Given the description of an element on the screen output the (x, y) to click on. 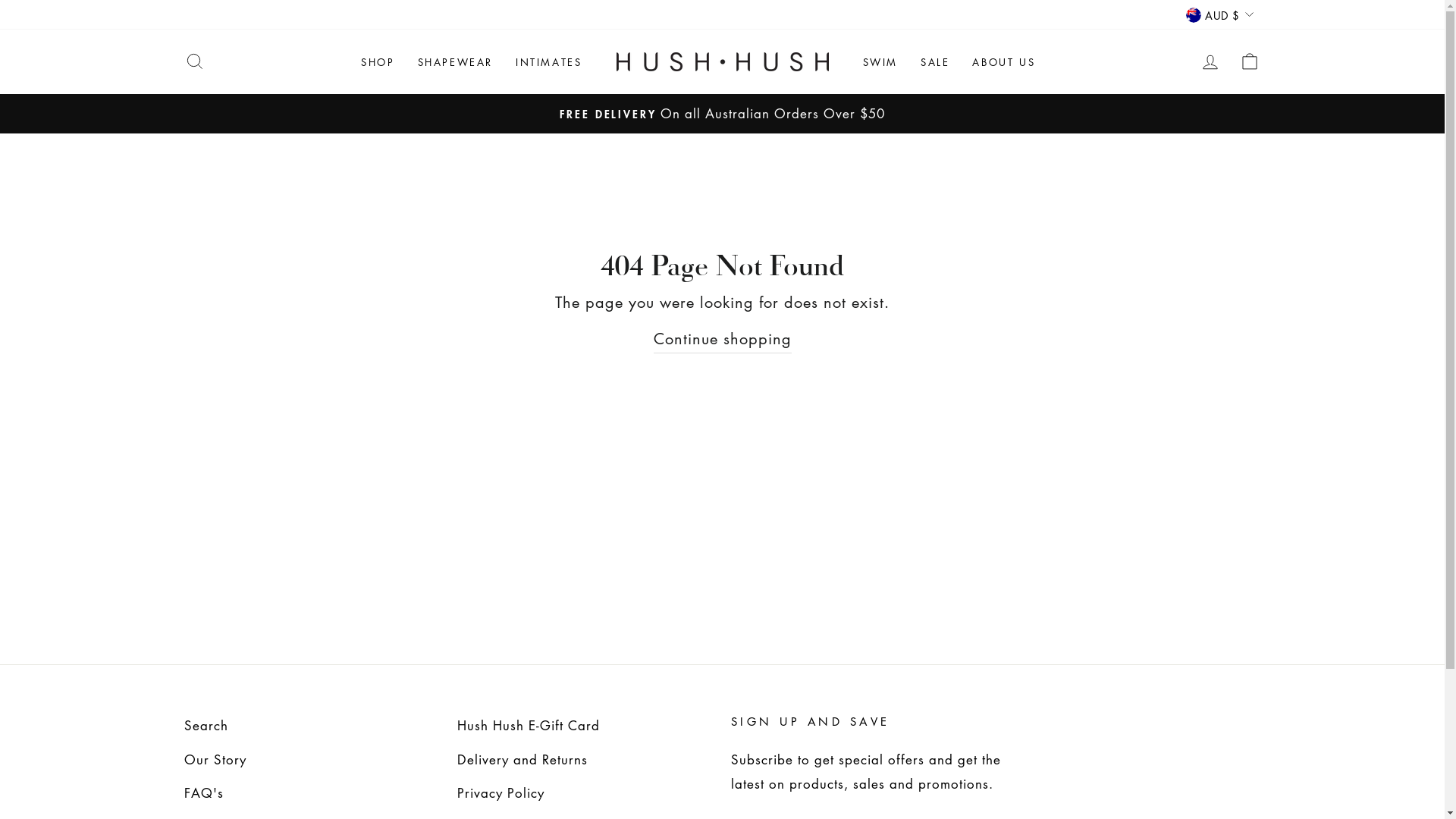
AUD $ Element type: text (1219, 14)
Search Element type: text (205, 725)
SHOP Element type: text (377, 62)
Privacy Policy Element type: text (500, 793)
Hush Hush E-Gift Card Element type: text (528, 725)
SHAPEWEAR Element type: text (455, 62)
Continue shopping Element type: text (722, 338)
FAQ's Element type: text (202, 793)
SEARCH Element type: text (193, 61)
ABOUT US Element type: text (1003, 62)
Skip to content Element type: text (0, 0)
Delivery and Returns Element type: text (522, 759)
SALE Element type: text (934, 62)
SWIM Element type: text (879, 62)
SIGN UP AND SAVE Element type: text (810, 720)
INTIMATES Element type: text (548, 62)
Our Story Element type: text (214, 759)
CART Element type: text (1249, 61)
LOG IN Element type: text (1210, 61)
